Given the description of an element on the screen output the (x, y) to click on. 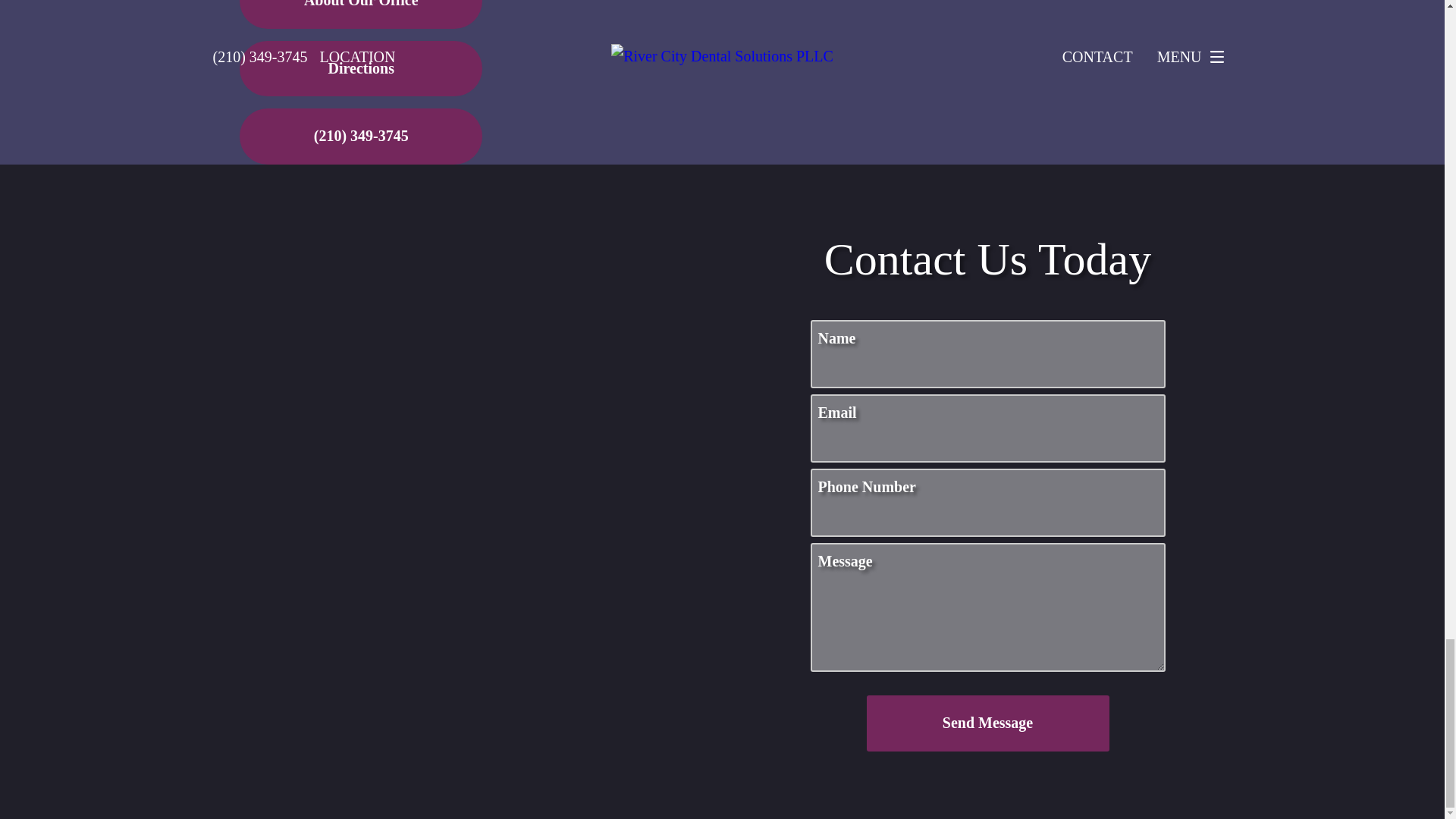
Send Message (987, 723)
About Our Office (360, 14)
Directions (360, 68)
